Given the description of an element on the screen output the (x, y) to click on. 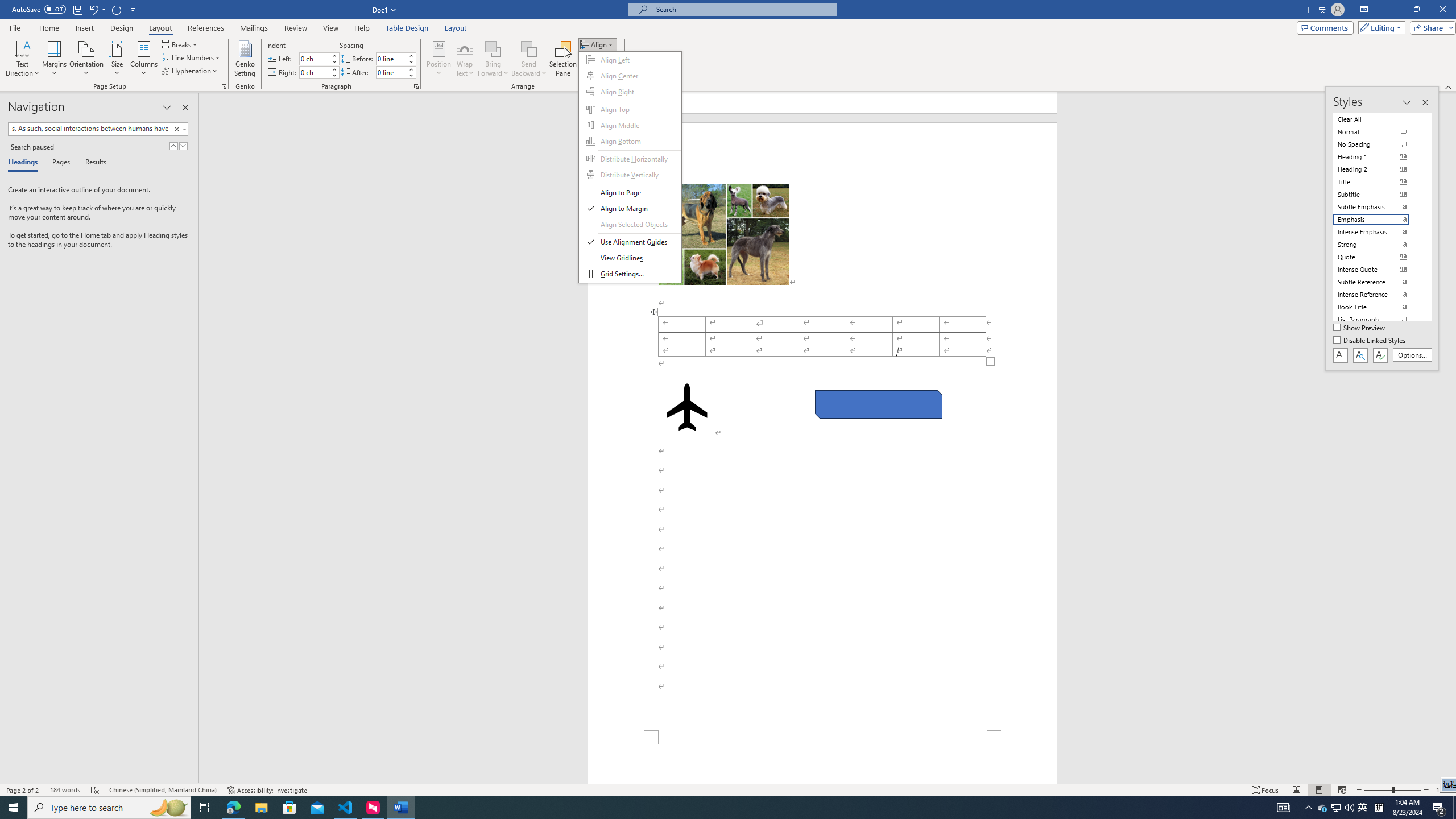
Show Preview (1360, 328)
&Align (629, 166)
Line Numbers (191, 56)
Running applications (700, 807)
Breaks (179, 44)
Clear (176, 128)
Intense Emphasis (1377, 232)
Intense Reference (1377, 294)
